Given the description of an element on the screen output the (x, y) to click on. 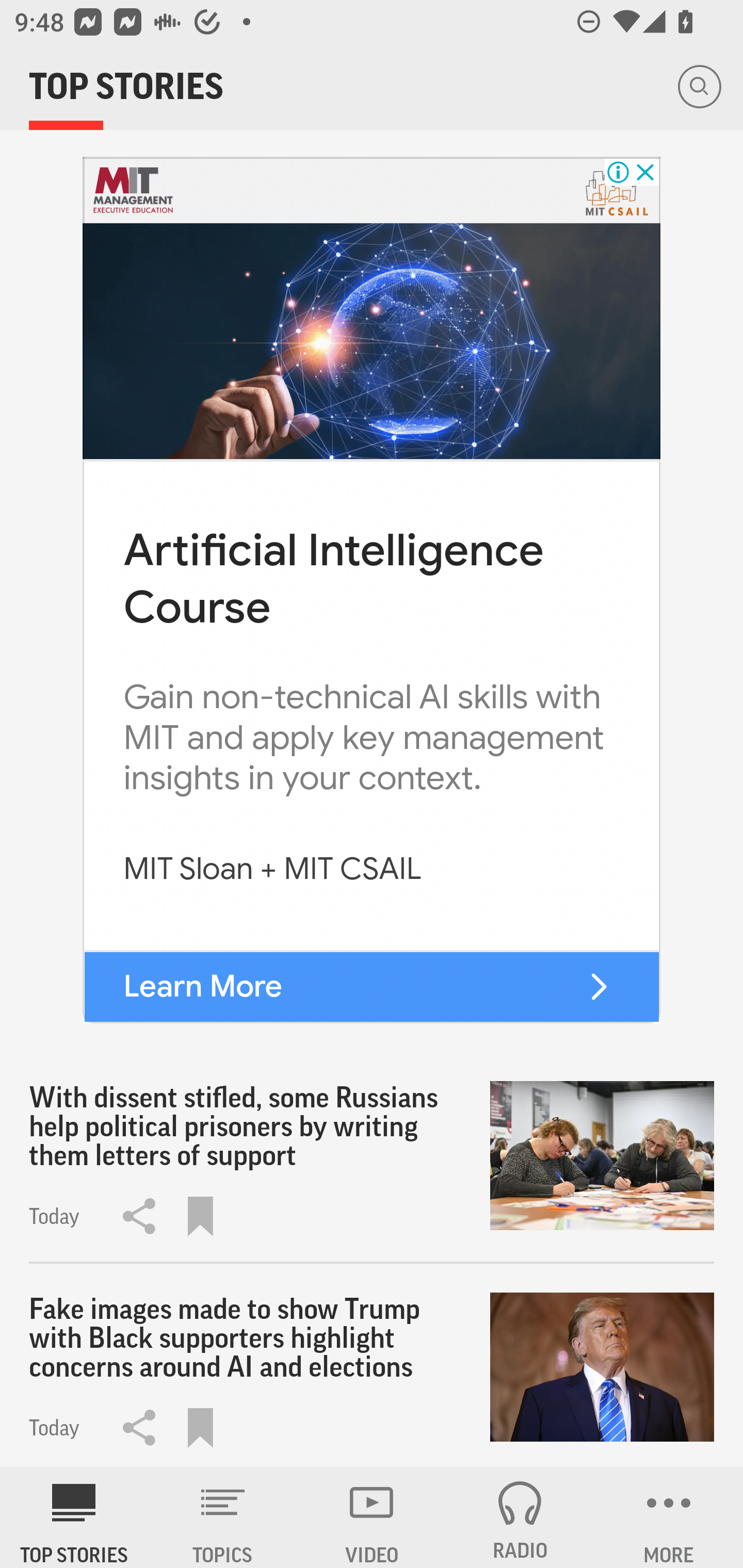
MIT Sloan + MIT CSAIL (272, 869)
Learn More (202, 986)
AP News TOP STORIES (74, 1517)
TOPICS (222, 1517)
VIDEO (371, 1517)
RADIO (519, 1517)
MORE (668, 1517)
